Given the description of an element on the screen output the (x, y) to click on. 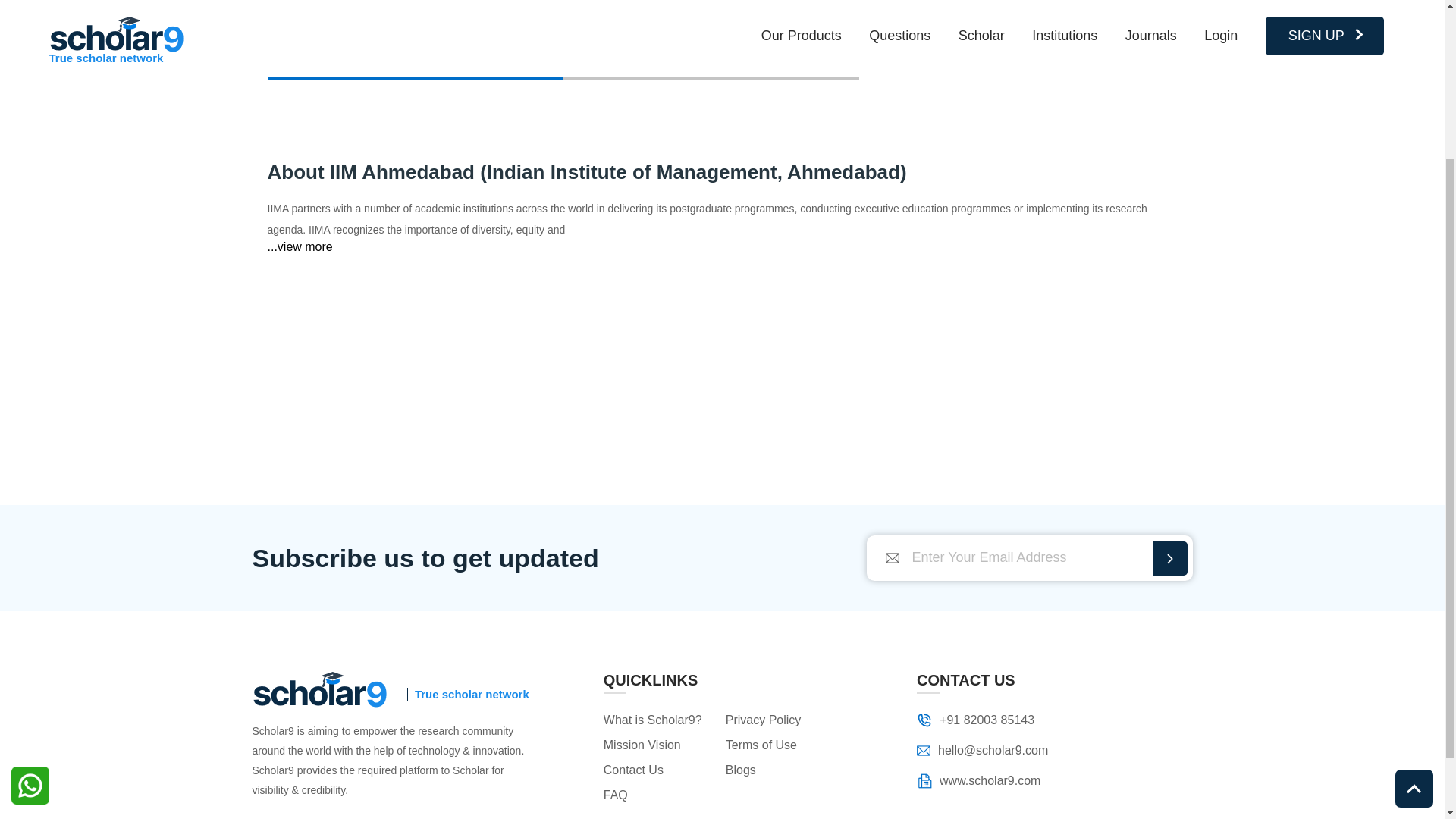
Privacy Policy (778, 719)
Logo (924, 780)
Publications (414, 56)
Logo (319, 689)
Contact Us (657, 769)
Logo (923, 749)
FAQ (657, 794)
Blogs (778, 769)
submit (1169, 558)
submit (1169, 558)
